Given the description of an element on the screen output the (x, y) to click on. 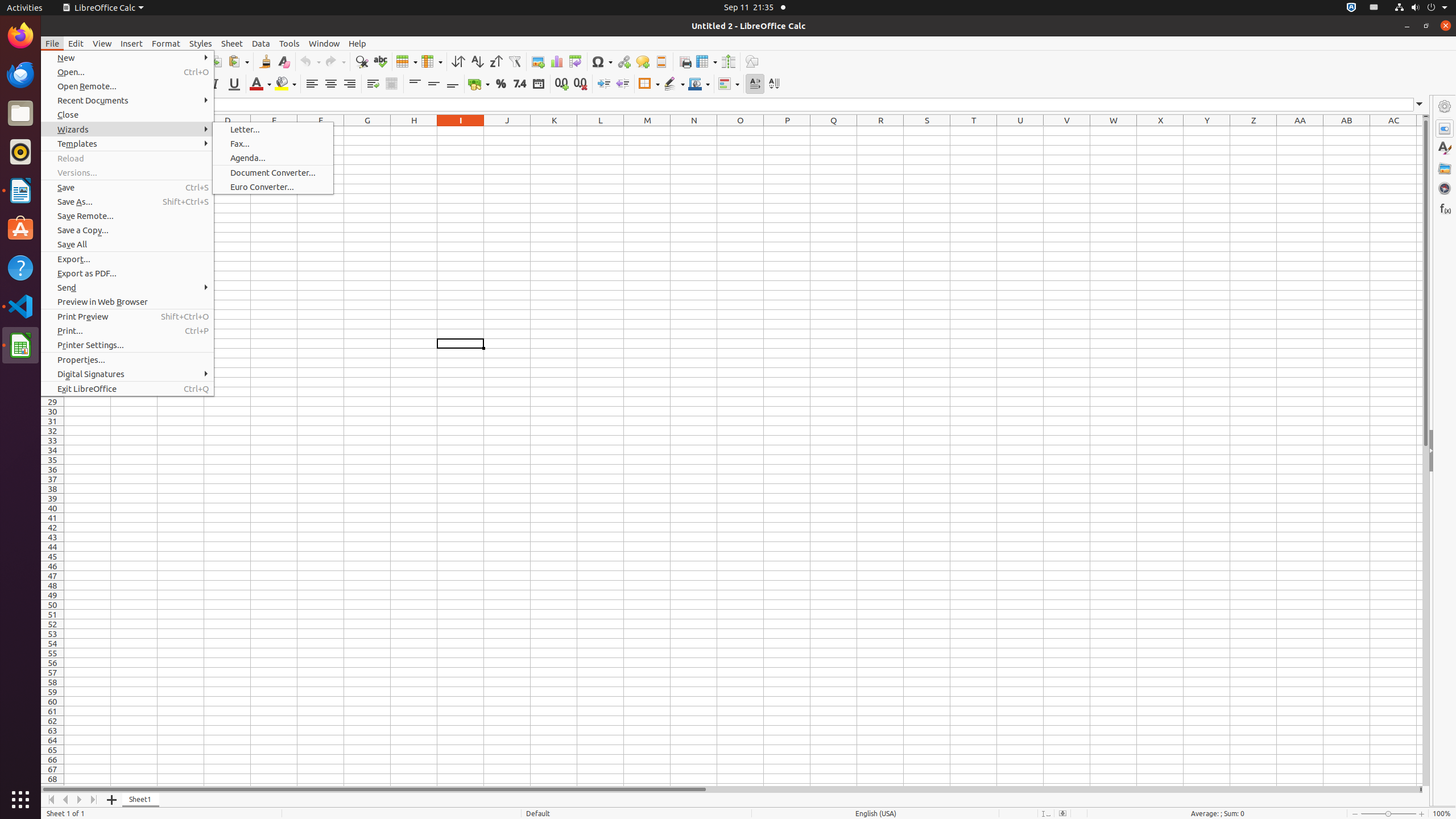
Move Right Element type: push-button (79, 799)
Export as PDF... Element type: menu-item (126, 273)
Find & Replace Element type: toggle-button (361, 61)
Clear Element type: push-button (283, 61)
Vertical scroll bar Element type: scroll-bar (1425, 451)
